Given the description of an element on the screen output the (x, y) to click on. 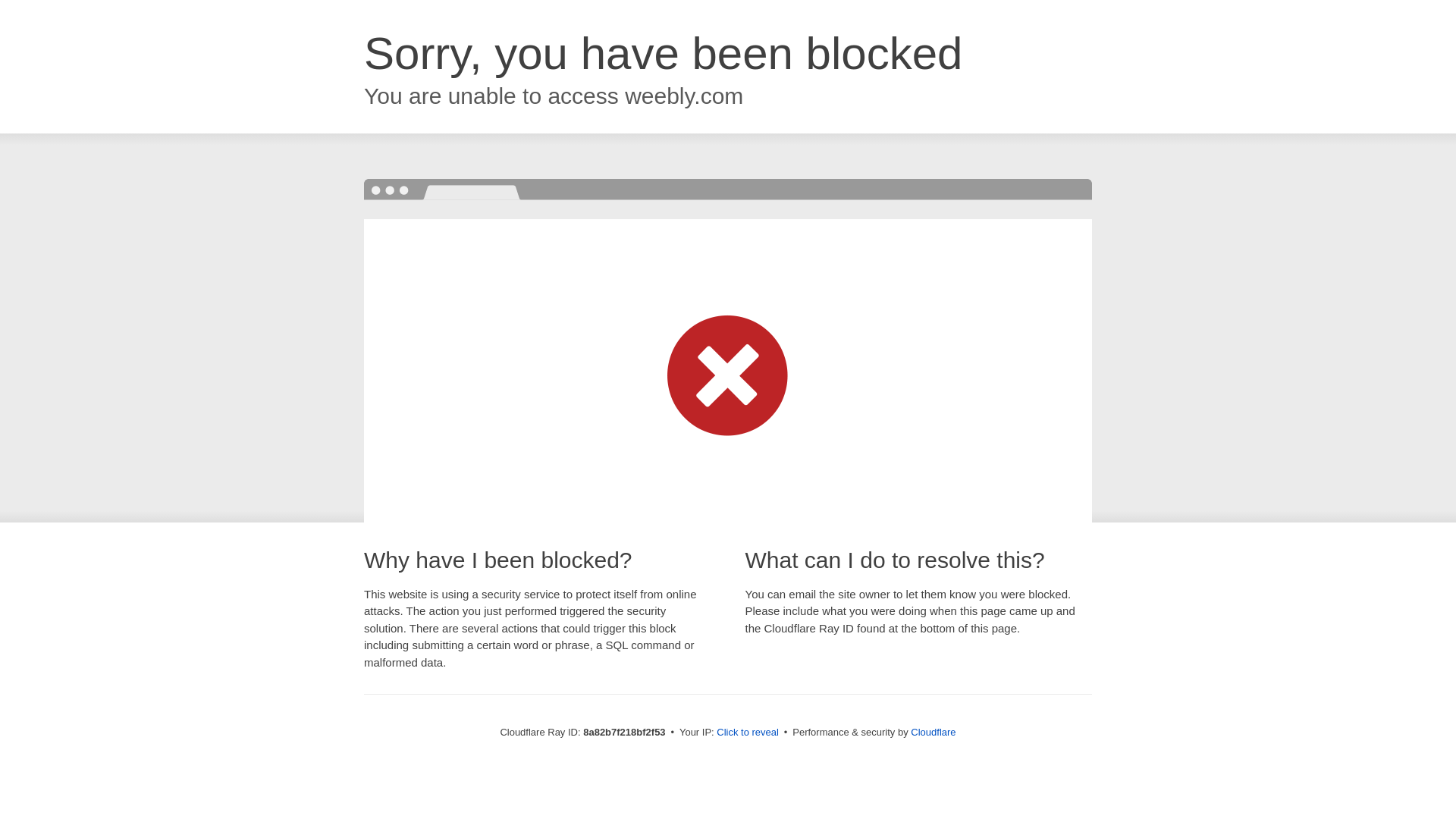
Cloudflare (933, 731)
Click to reveal (747, 732)
